Given the description of an element on the screen output the (x, y) to click on. 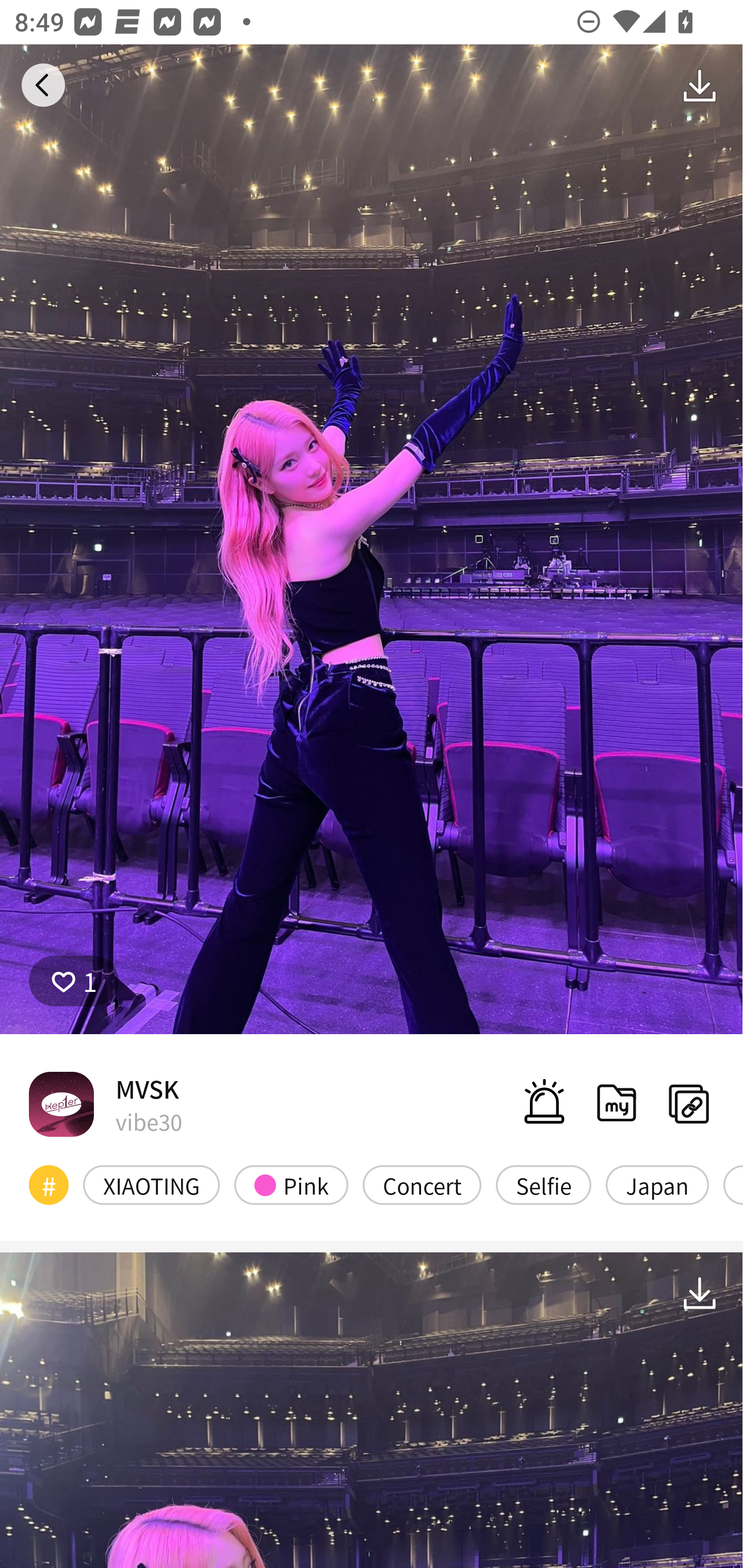
1 (73, 980)
MVSK vibe30 (105, 1103)
XIAOTING (151, 1184)
Pink (291, 1184)
Concert (421, 1184)
Selfie (543, 1184)
Japan (656, 1184)
